Given the description of an element on the screen output the (x, y) to click on. 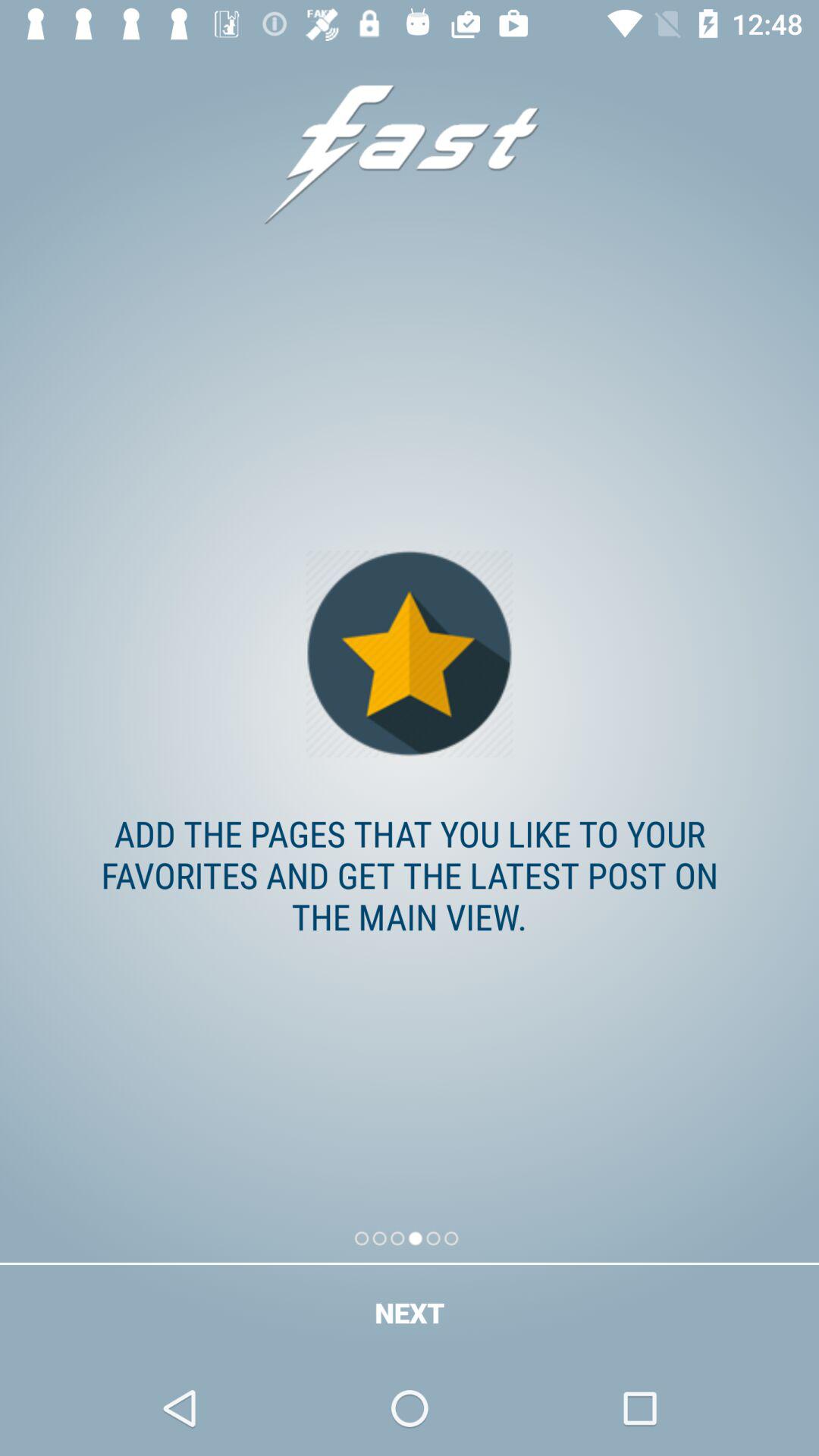
flip to the next item (409, 1312)
